Given the description of an element on the screen output the (x, y) to click on. 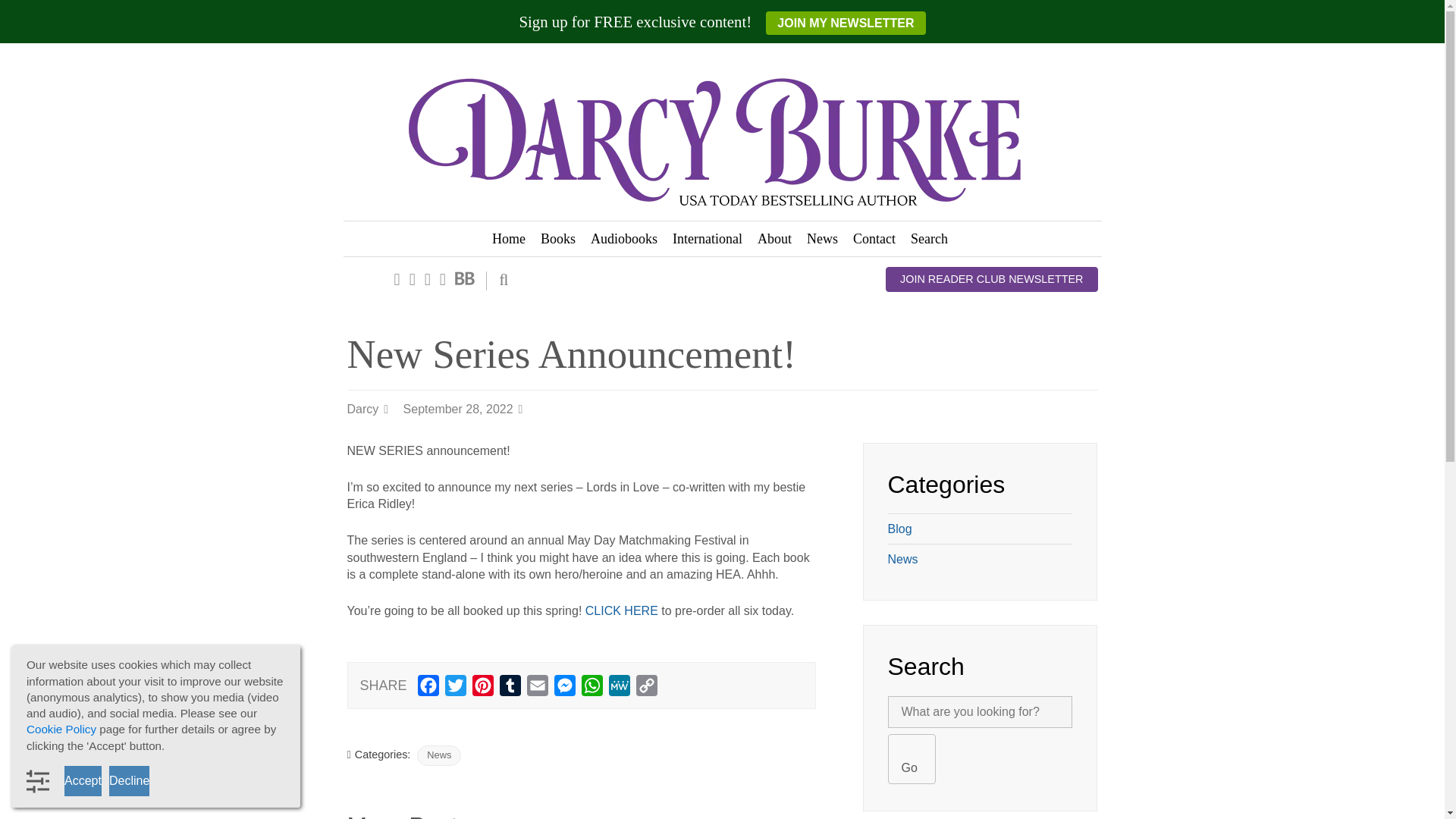
Copy Link (647, 688)
Contact (873, 238)
MeWe (619, 688)
Messenger (564, 688)
JOIN READER CLUB NEWSLETTER (991, 278)
Twitter (455, 688)
Pinterest (482, 688)
WhatsApp (591, 688)
WhatsApp (591, 688)
Facebook (428, 688)
Pinterest (482, 688)
Messenger (564, 688)
International (707, 238)
Audiobooks (624, 238)
JOIN MY NEWSLETTER (844, 23)
